Given the description of an element on the screen output the (x, y) to click on. 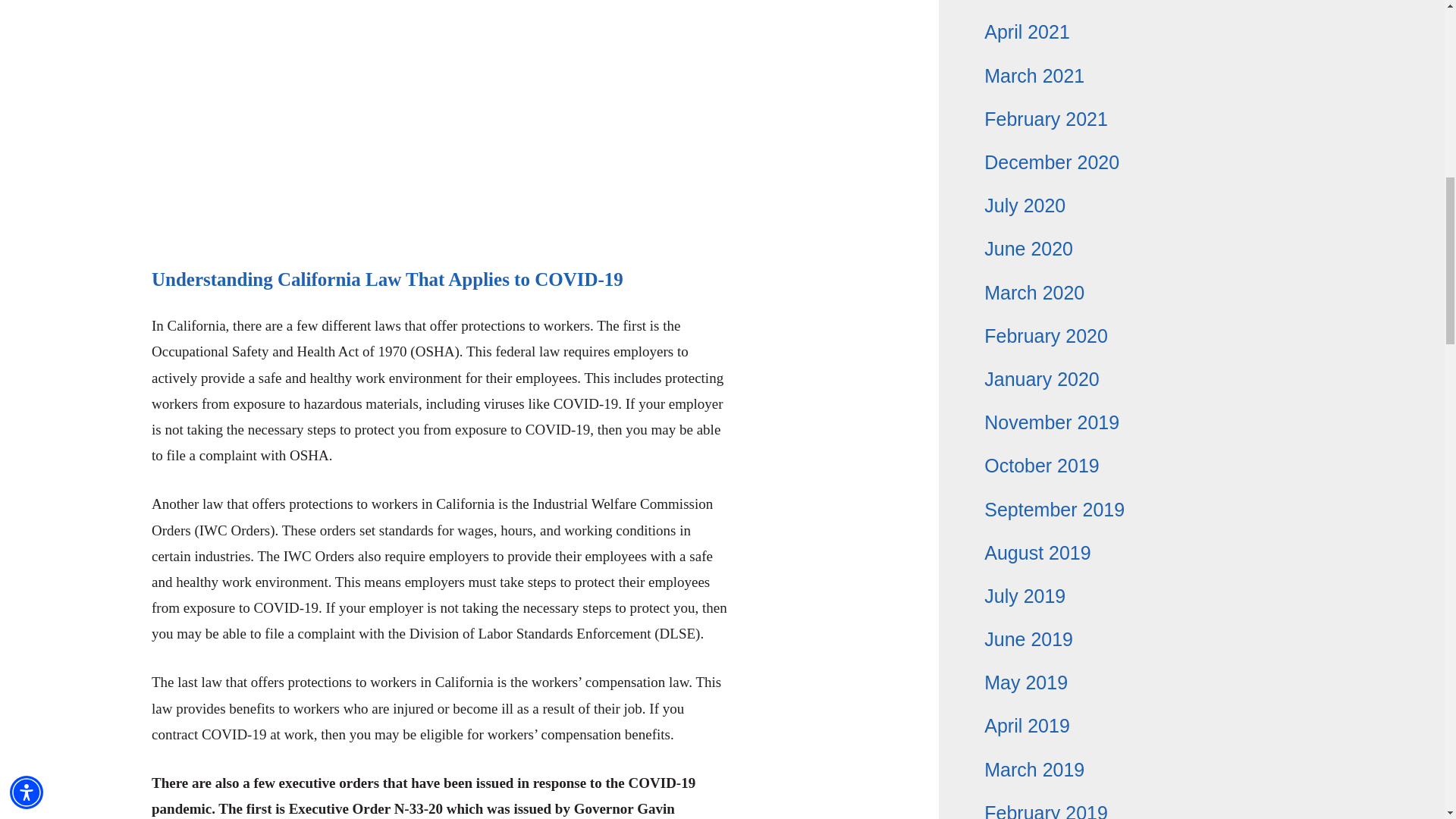
March 2021 (1034, 75)
April 2021 (1027, 31)
February 2021 (1046, 118)
